Given the description of an element on the screen output the (x, y) to click on. 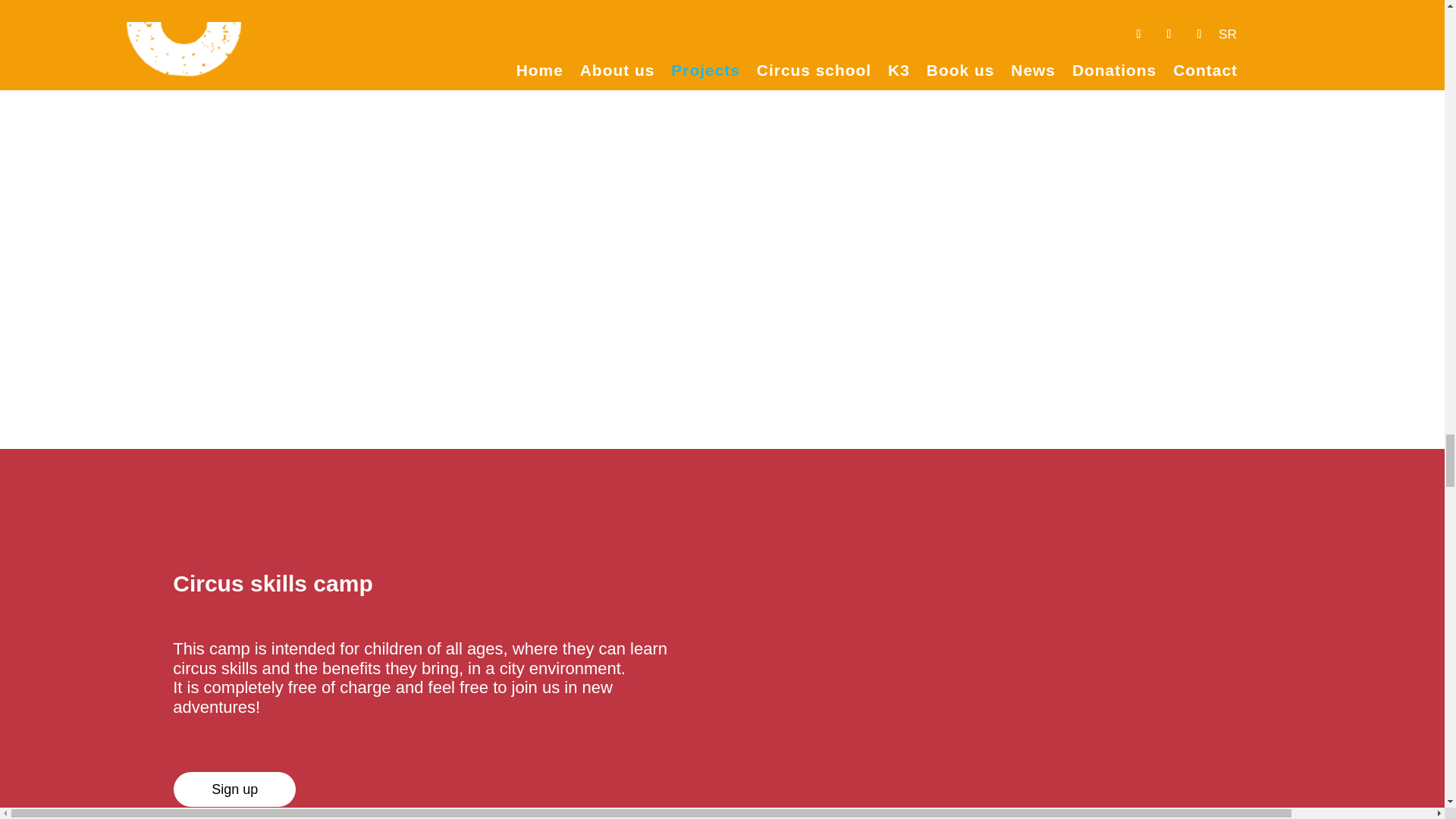
Sign up (234, 788)
